Given the description of an element on the screen output the (x, y) to click on. 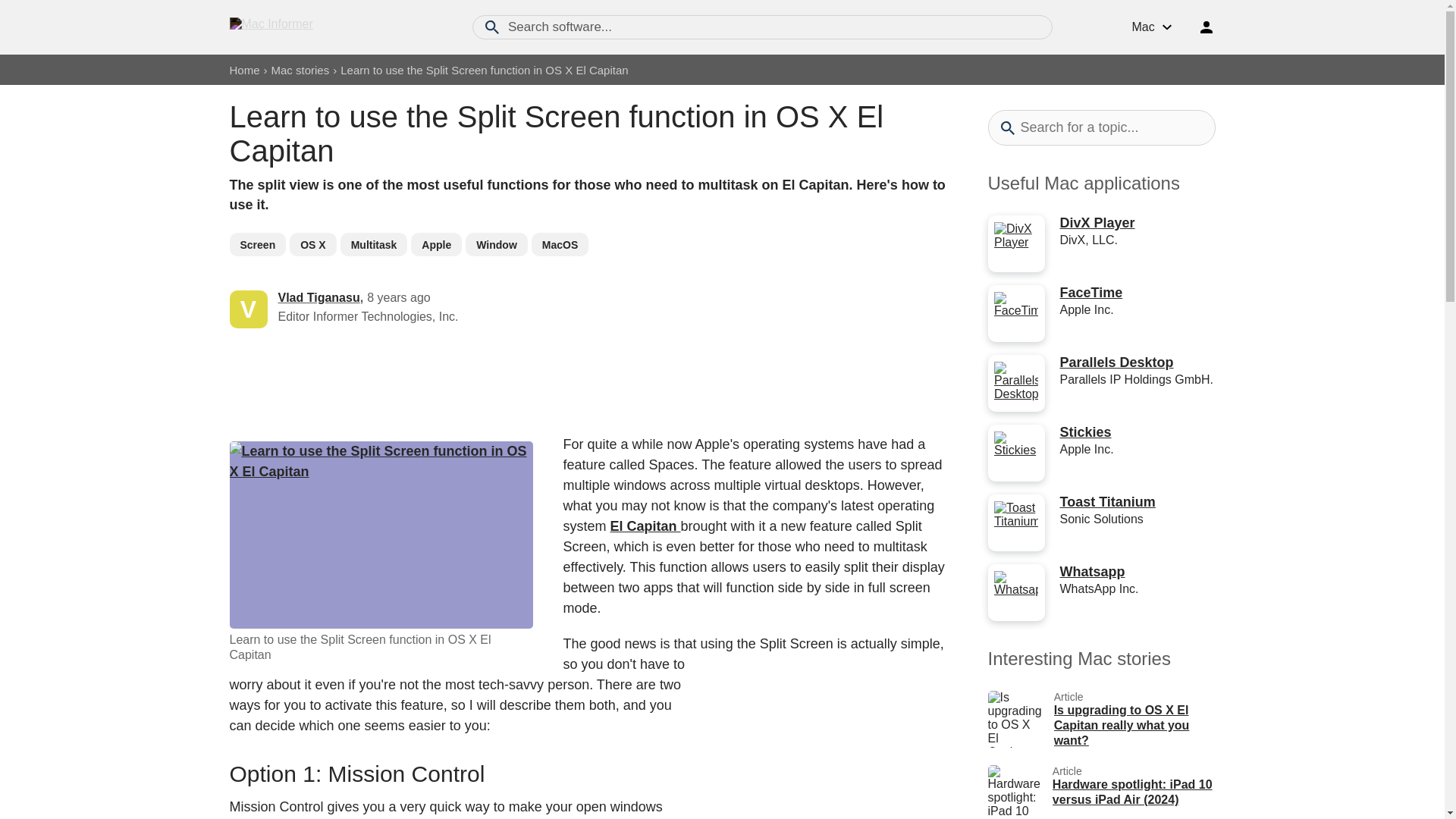
Stickies (1085, 432)
Search software... (761, 27)
OS X (312, 244)
MacOS (559, 244)
Home (243, 69)
Toast Titanium (1107, 501)
Screen (256, 244)
Window (496, 244)
Multitask (373, 244)
Mac stories (300, 69)
Vlad Tiganasu (318, 297)
Whatsapp (1092, 571)
Apple (435, 244)
